Given the description of an element on the screen output the (x, y) to click on. 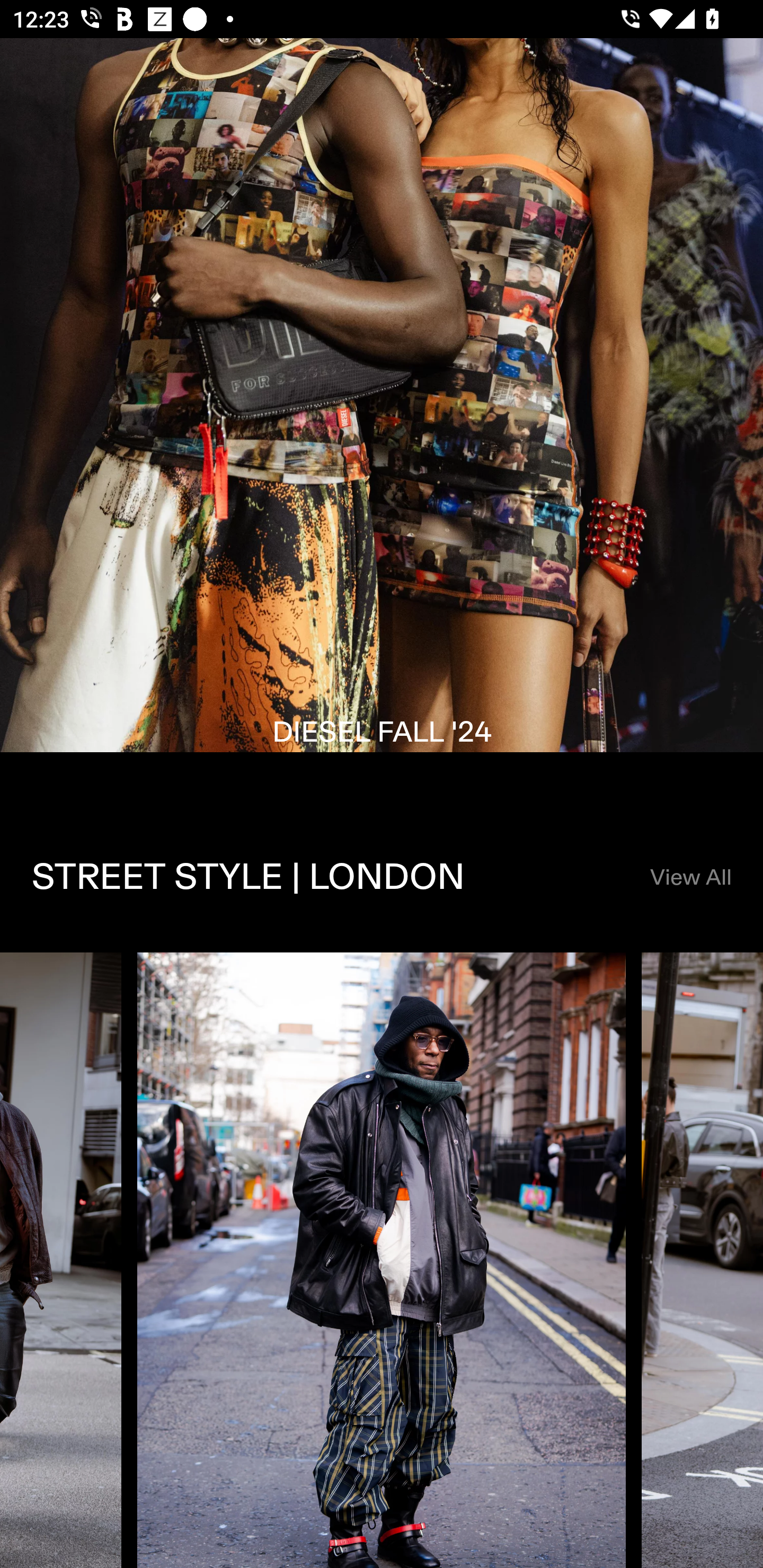
FIRST LOOKS DIESEL FALL '24 (381, 419)
View All (690, 878)
